Given the description of an element on the screen output the (x, y) to click on. 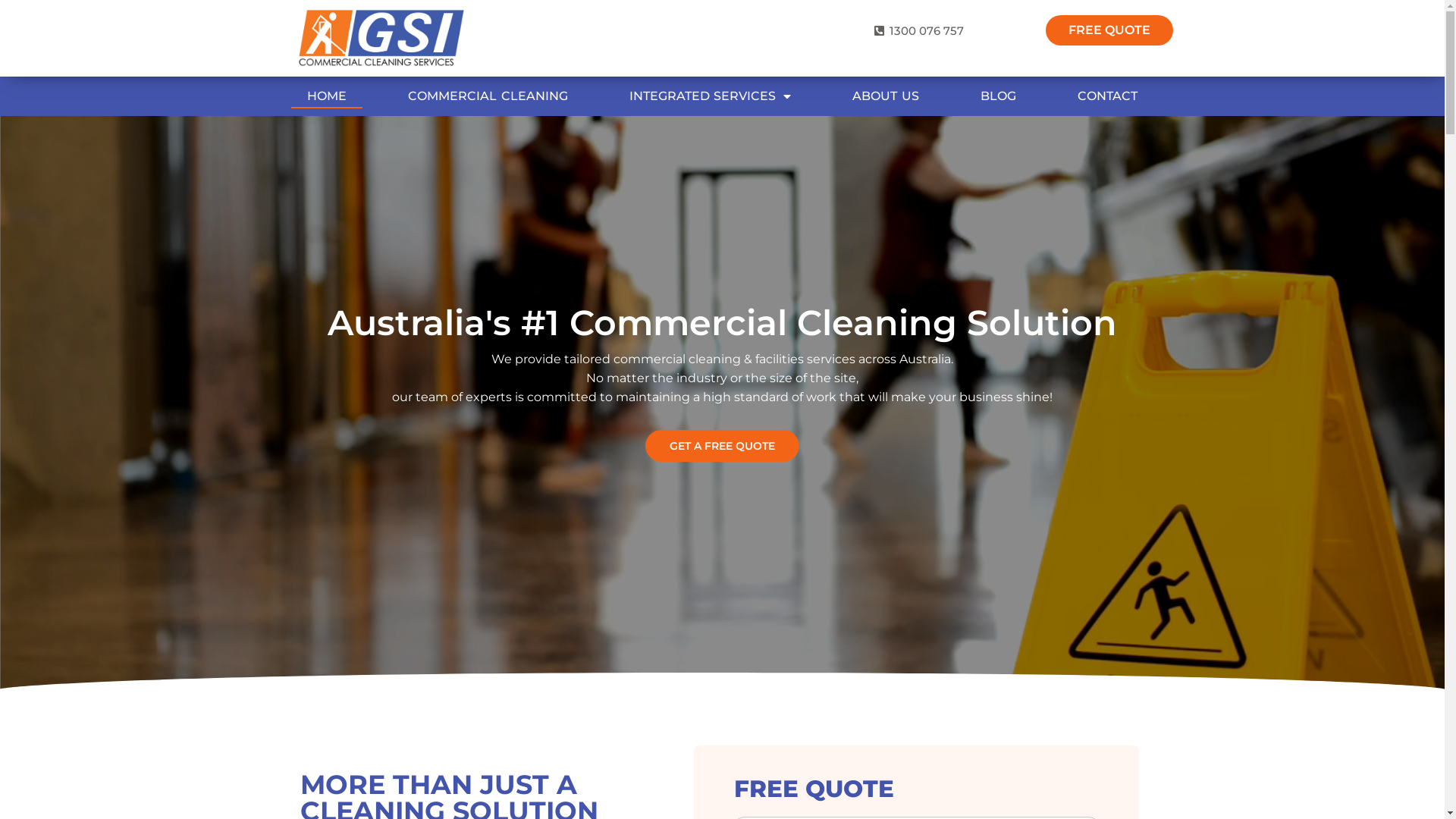
GET A FREE QUOTE Element type: text (722, 445)
BLOG Element type: text (998, 96)
HOME Element type: text (326, 96)
FREE QUOTE Element type: text (1109, 30)
COMMERCIAL CLEANING Element type: text (487, 96)
GSI-logo Element type: hover (381, 37)
1300 076 757 Element type: text (919, 29)
INTEGRATED SERVICES Element type: text (710, 96)
CONTACT Element type: text (1107, 96)
ABOUT US Element type: text (885, 96)
